Given the description of an element on the screen output the (x, y) to click on. 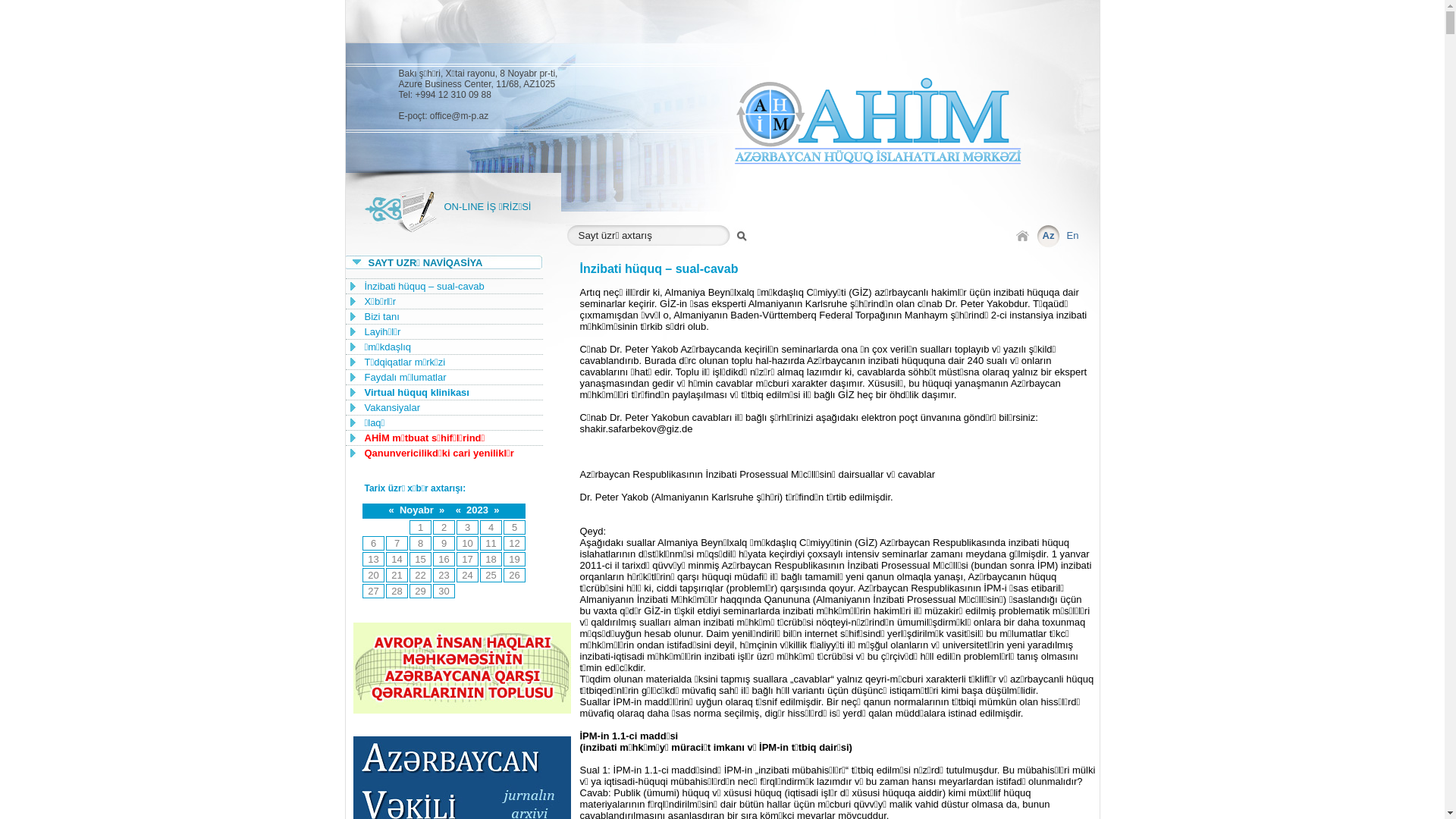
office@m-p.az Element type: text (458, 115)
Vakansiyalar Element type: text (391, 407)
En Element type: text (1072, 235)
Az Element type: text (1048, 235)
